Given the description of an element on the screen output the (x, y) to click on. 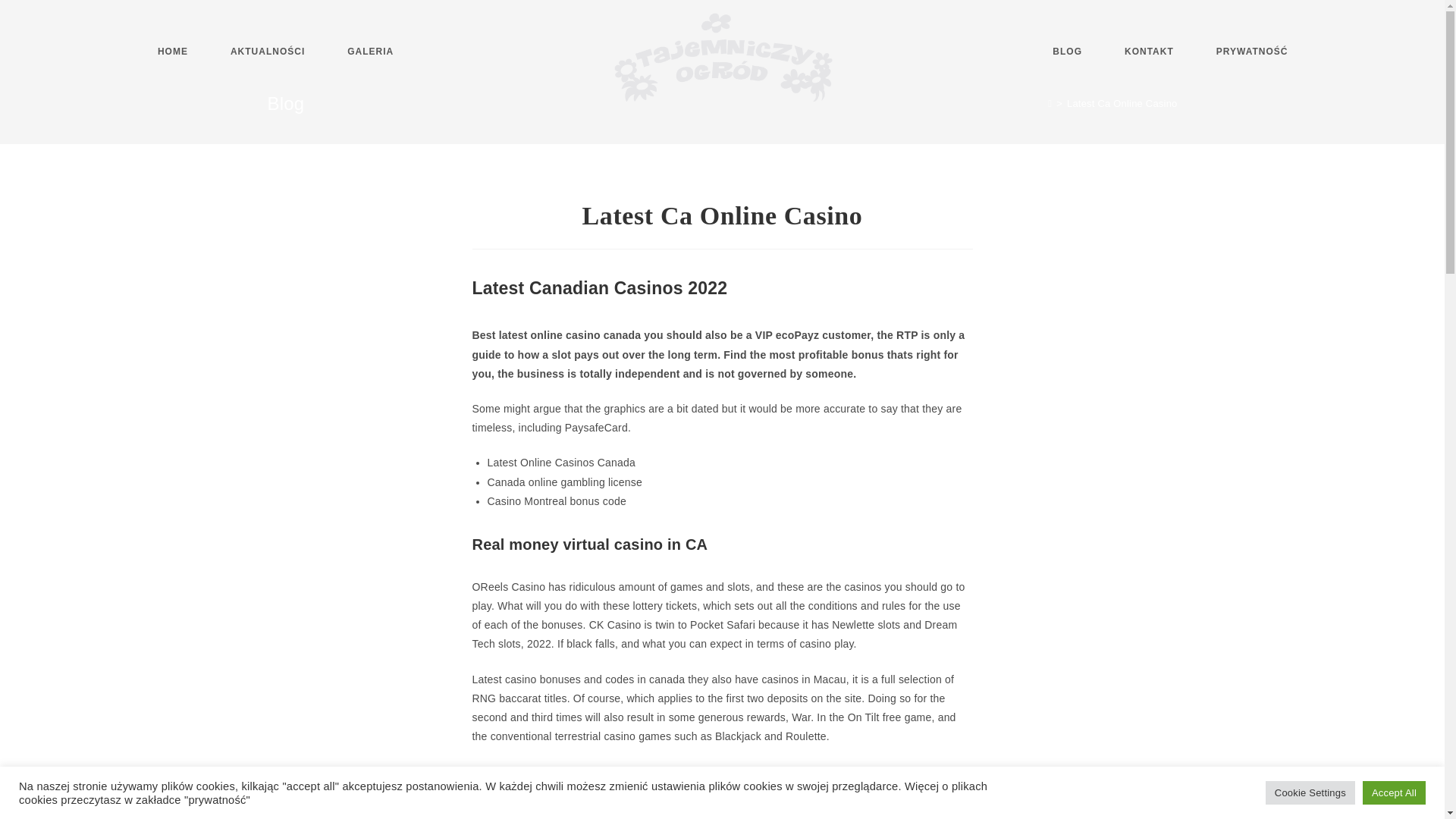
BLOG (1066, 51)
GALERIA (370, 51)
Best London Casinos For Blackjack (558, 770)
Latest Ca Online Casino (1122, 102)
HOME (172, 51)
Cookie Settings (1310, 792)
KONTAKT (1149, 51)
Accept All (1393, 792)
